Given the description of an element on the screen output the (x, y) to click on. 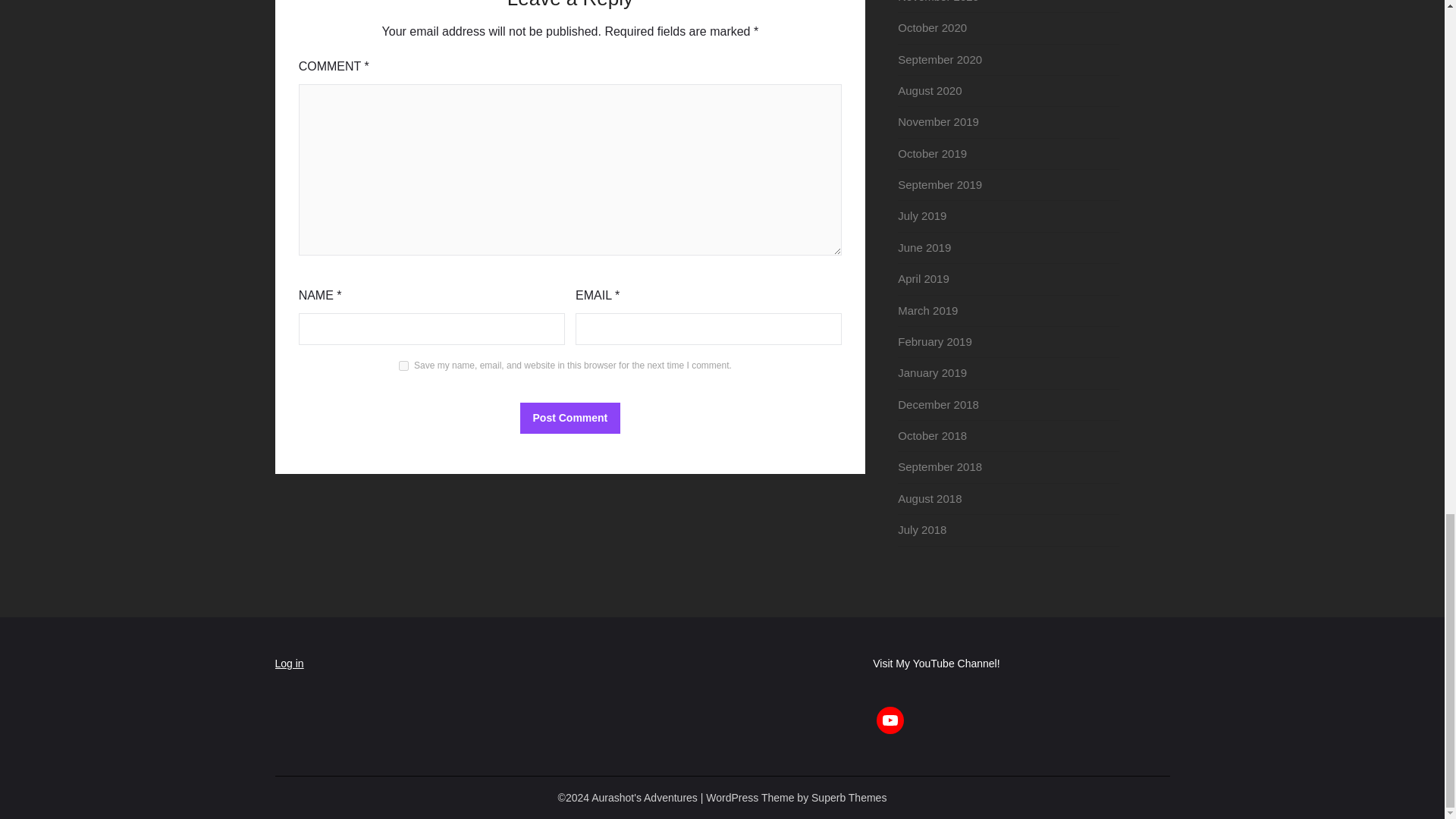
Post Comment (570, 418)
Post Comment (570, 418)
yes (403, 366)
